Given the description of an element on the screen output the (x, y) to click on. 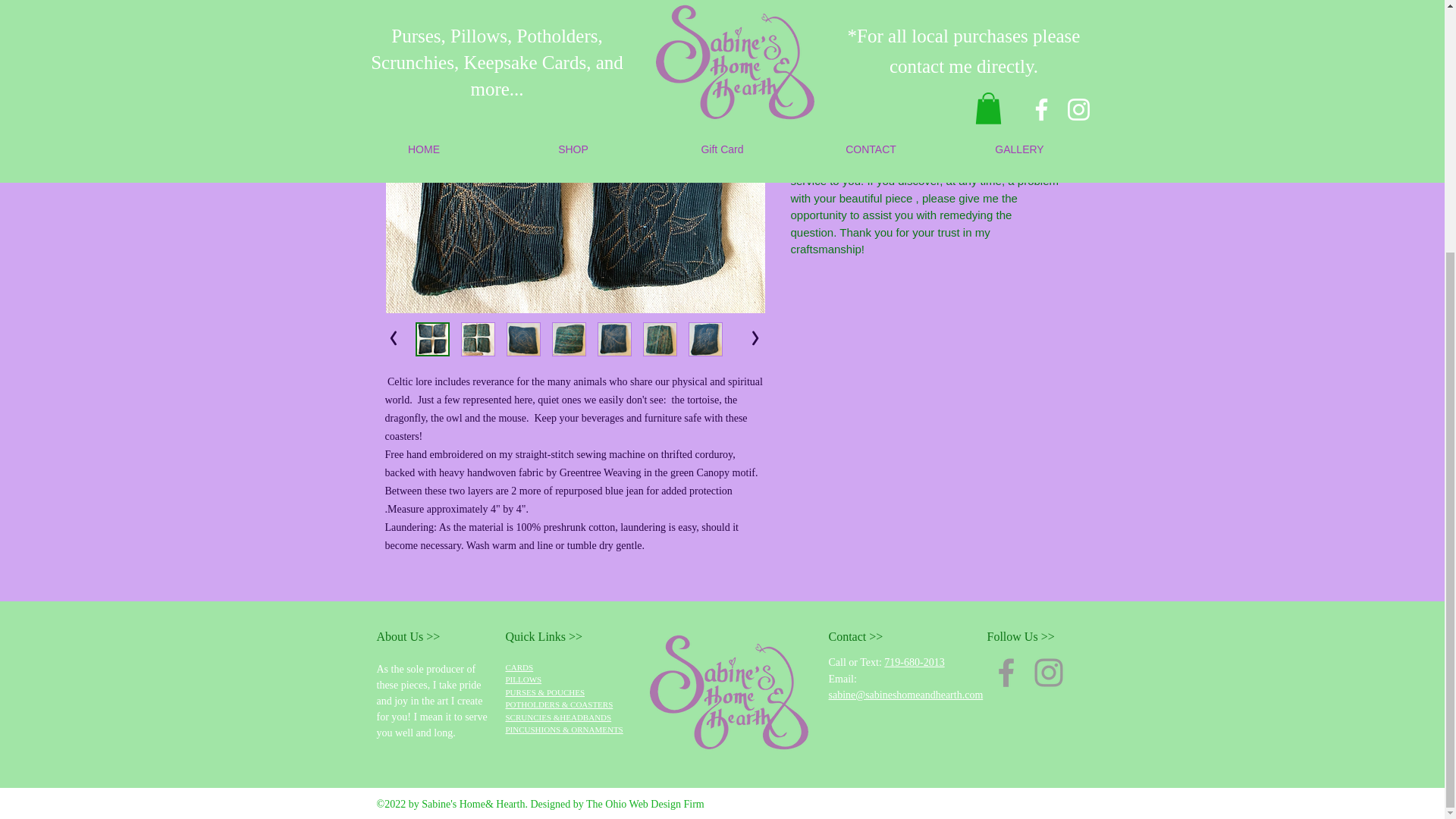
CARDS (518, 666)
PILLOWS (523, 678)
sabines-logo-final-design-a967aa-lavender-white-01.png (729, 691)
Out of Stock (906, 24)
Personal Guarantee (924, 84)
